Given the description of an element on the screen output the (x, y) to click on. 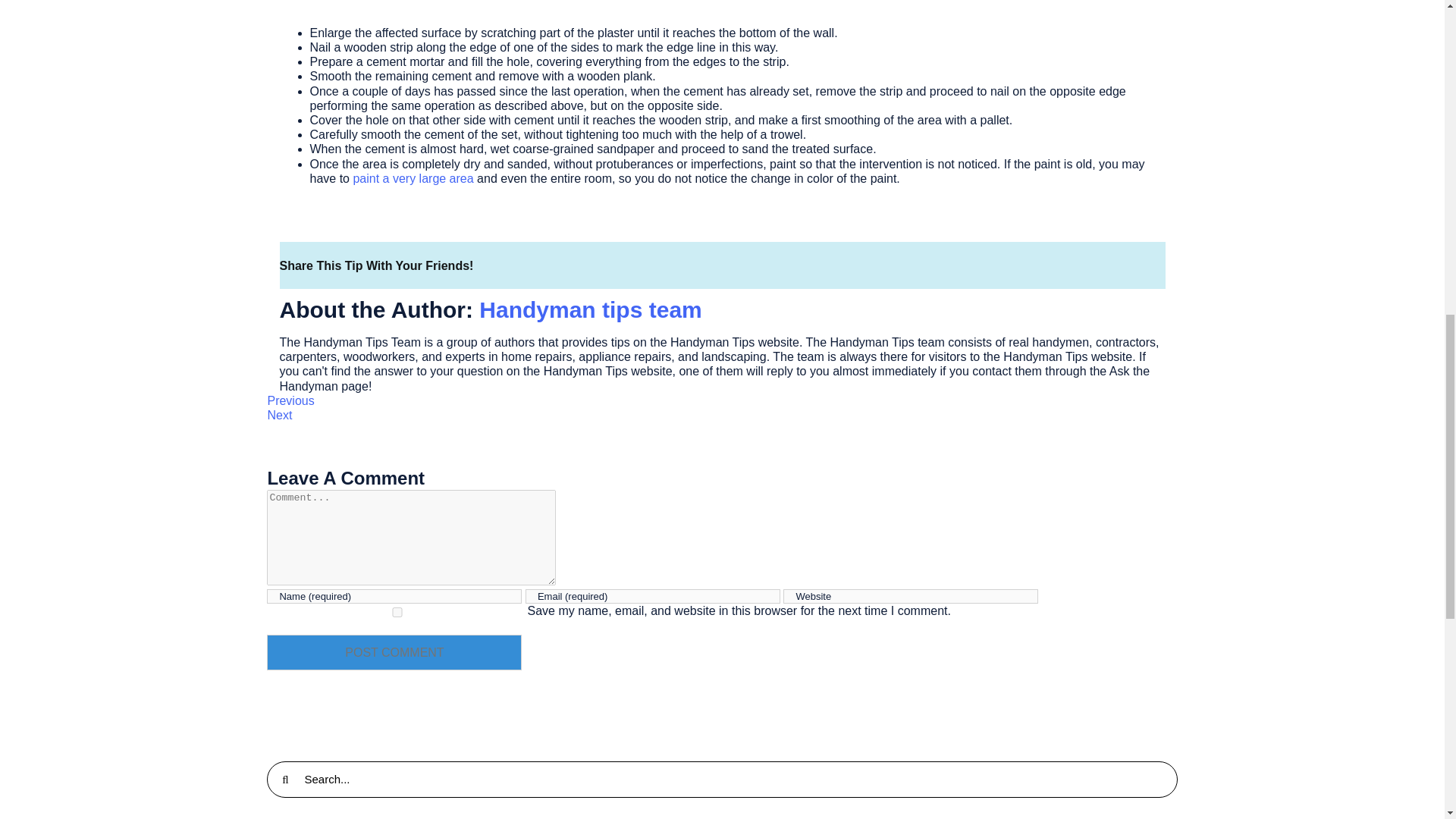
paint a very large area (412, 178)
Post Comment (393, 652)
yes (396, 612)
Post Comment (393, 652)
Handyman tips team (590, 309)
Next (279, 414)
Previous (290, 400)
